Given the description of an element on the screen output the (x, y) to click on. 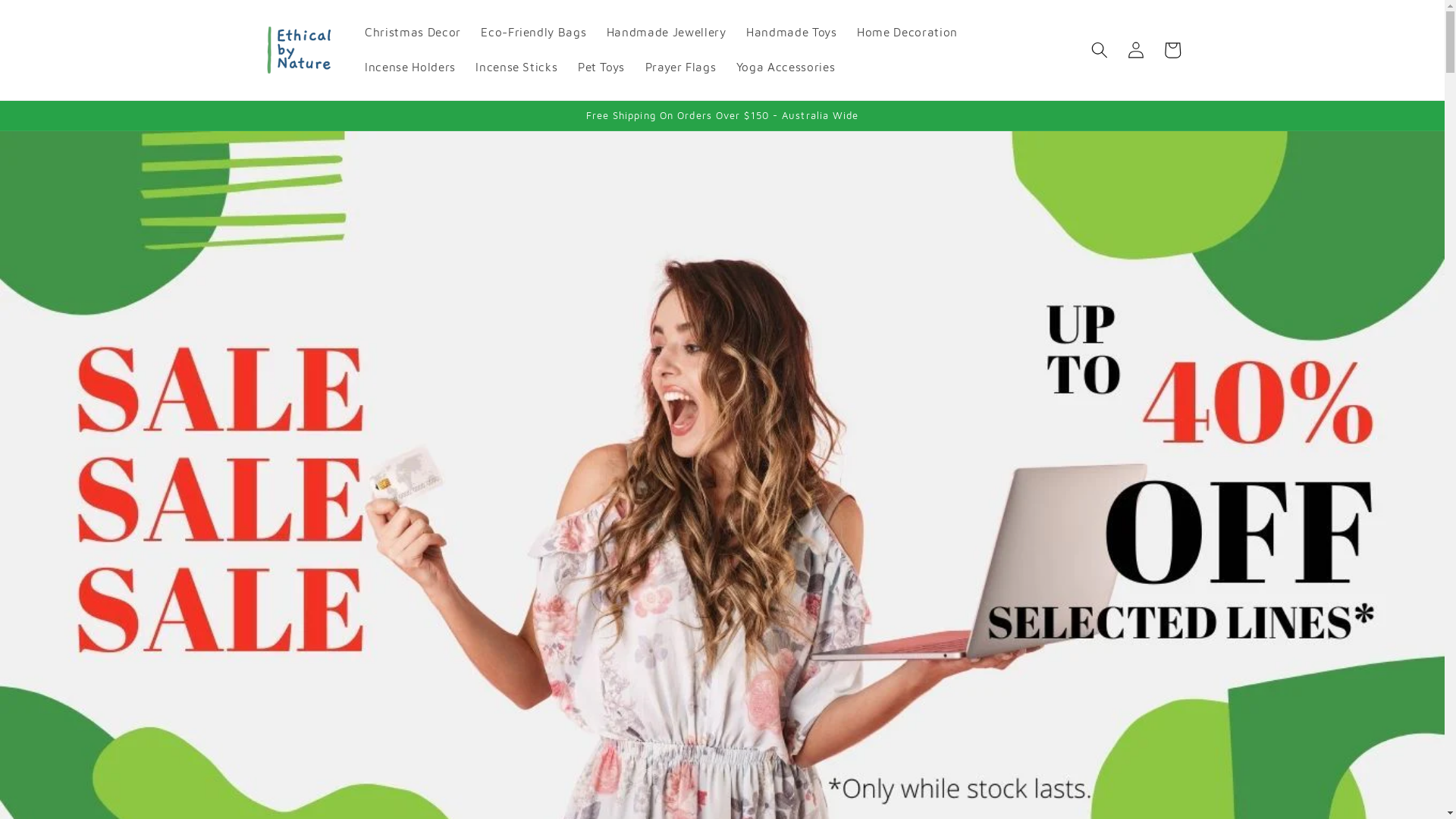
Incense Sticks Element type: text (516, 67)
Handmade Jewellery Element type: text (666, 32)
Christmas Decor Element type: text (412, 32)
Prayer Flags Element type: text (679, 67)
Yoga Accessories Element type: text (785, 67)
Handmade Toys Element type: text (791, 32)
Cart Element type: text (1172, 49)
Log in Element type: text (1135, 49)
Pet Toys Element type: text (601, 67)
Home Decoration Element type: text (907, 32)
Eco-Friendly Bags Element type: text (533, 32)
Incense Holders Element type: text (409, 67)
